Given the description of an element on the screen output the (x, y) to click on. 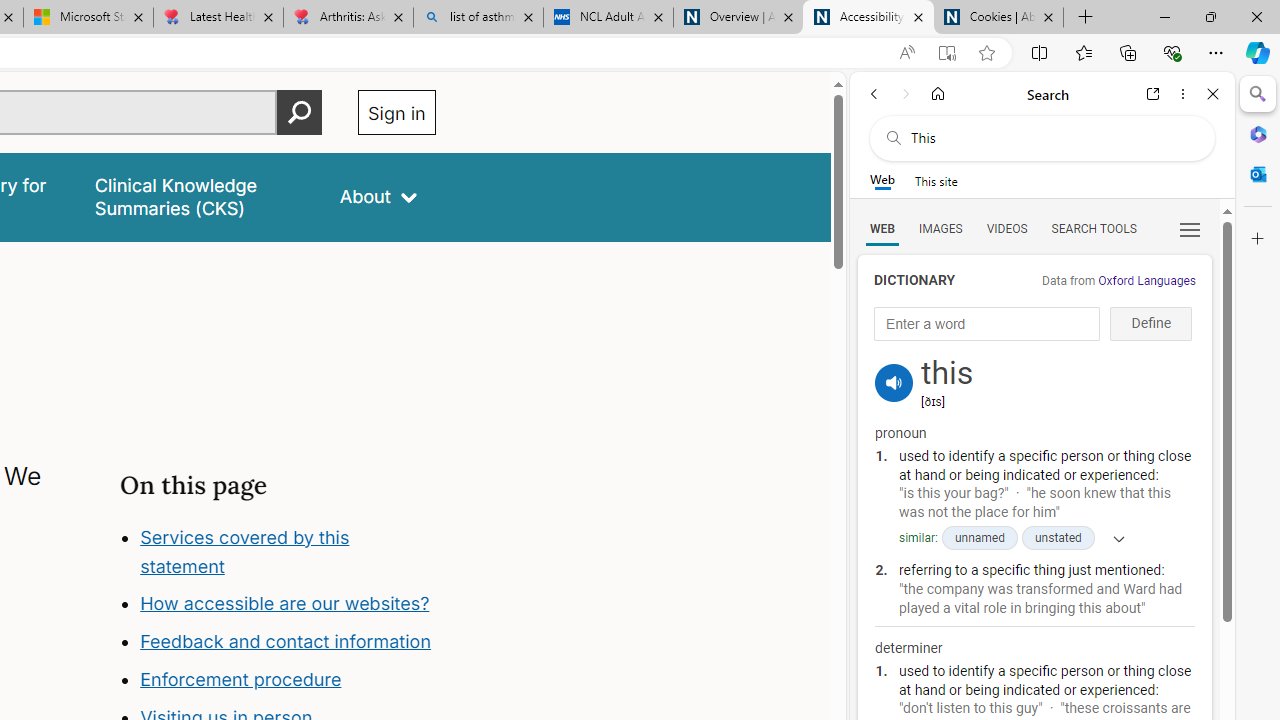
Define (1150, 323)
Services covered by this statement (244, 551)
Enforcement procedure (287, 680)
